Given the description of an element on the screen output the (x, y) to click on. 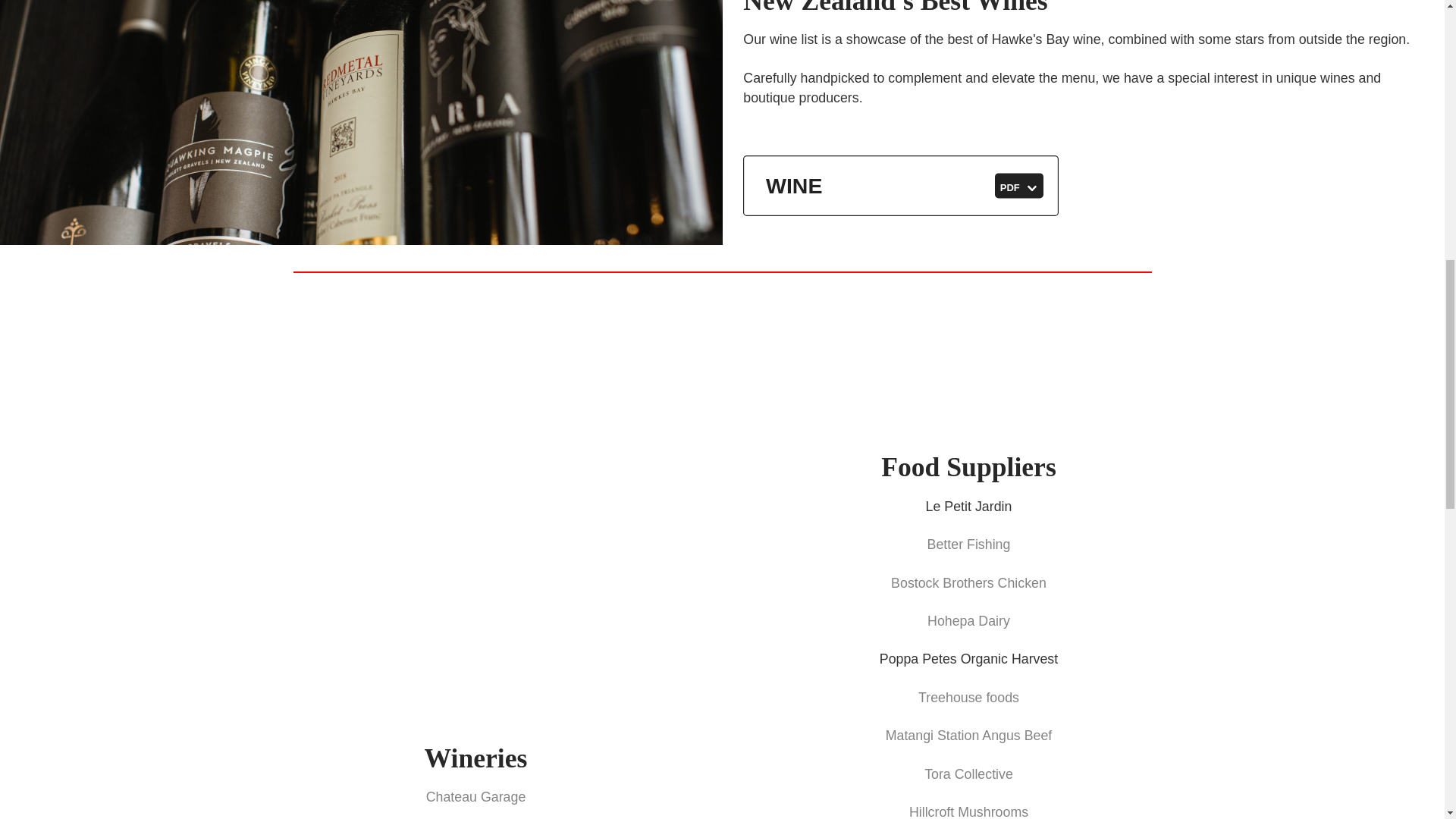
Hohepa Dairy (900, 186)
Tora Collective (968, 620)
Better Fishing (968, 774)
Treehouse foods (968, 544)
Hillcroft Mushrooms (968, 697)
Chateau Garage (967, 811)
Matangi Station Angus Beef (475, 796)
Bostock Brothers Chicken (968, 735)
